Given the description of an element on the screen output the (x, y) to click on. 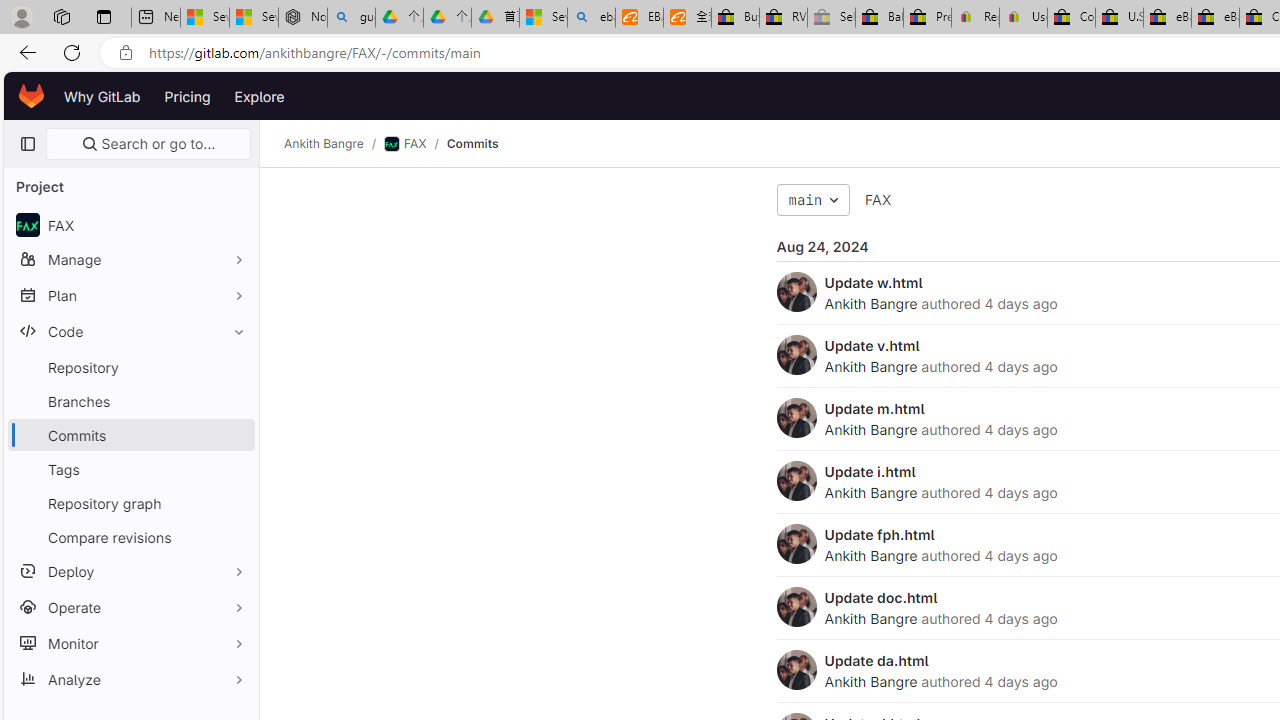
Commits (472, 143)
Commits (472, 143)
Why GitLab (102, 95)
Explore (259, 95)
Update fph.html (879, 534)
Update v.html (872, 345)
Repository graph (130, 502)
Manage (130, 259)
